Given the description of an element on the screen output the (x, y) to click on. 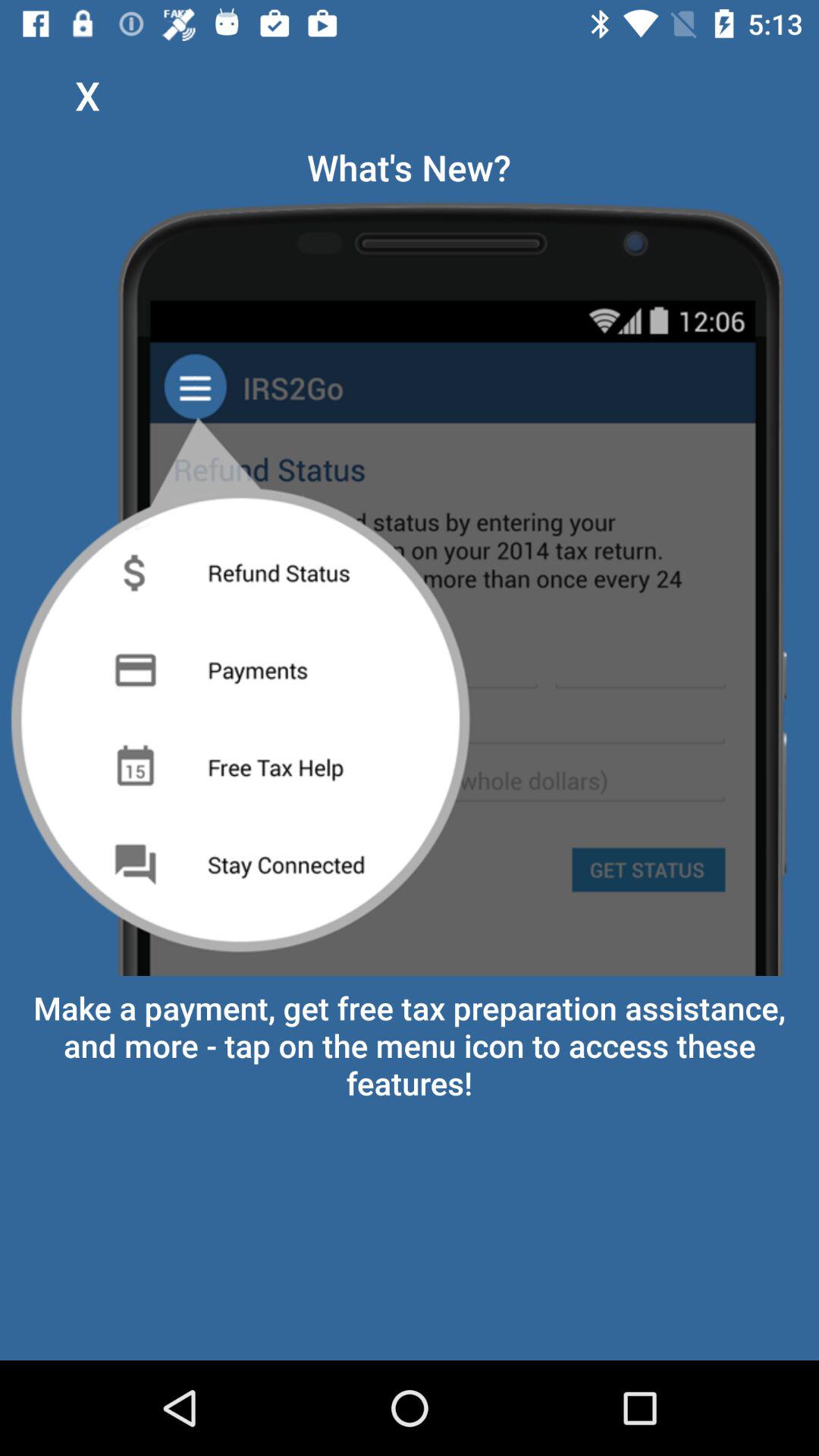
click the x (87, 95)
